Given the description of an element on the screen output the (x, y) to click on. 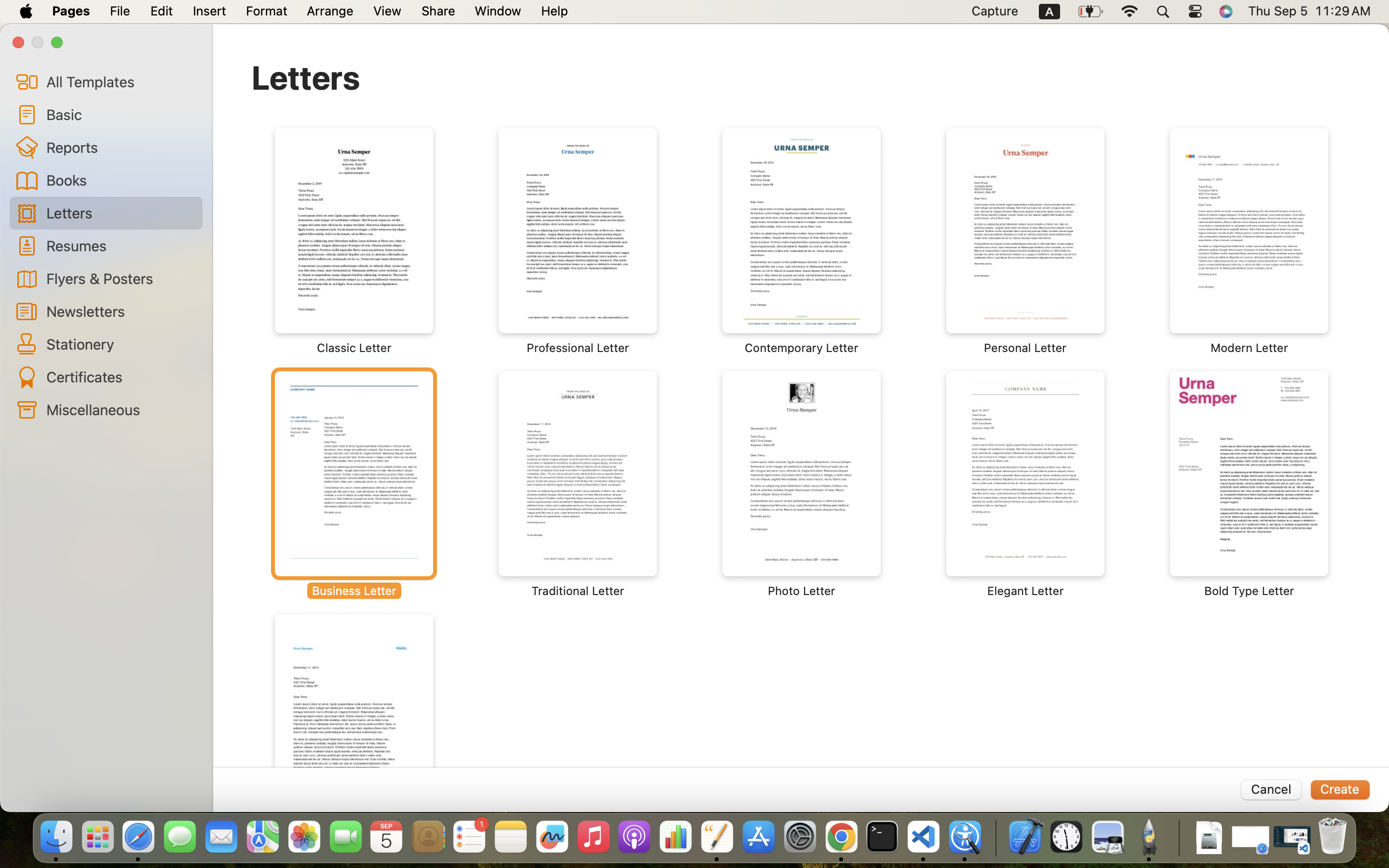
‎⁨Bold Type Letter⁩ Element type: AXButton (1249, 484)
Basic Element type: AXStaticText (120, 114)
‎⁨Photo Letter⁩ Element type: AXButton (801, 484)
Flyers & Posters Element type: AXStaticText (120, 278)
‎⁨Personal Letter⁩ Element type: AXButton (1025, 241)
